Given the description of an element on the screen output the (x, y) to click on. 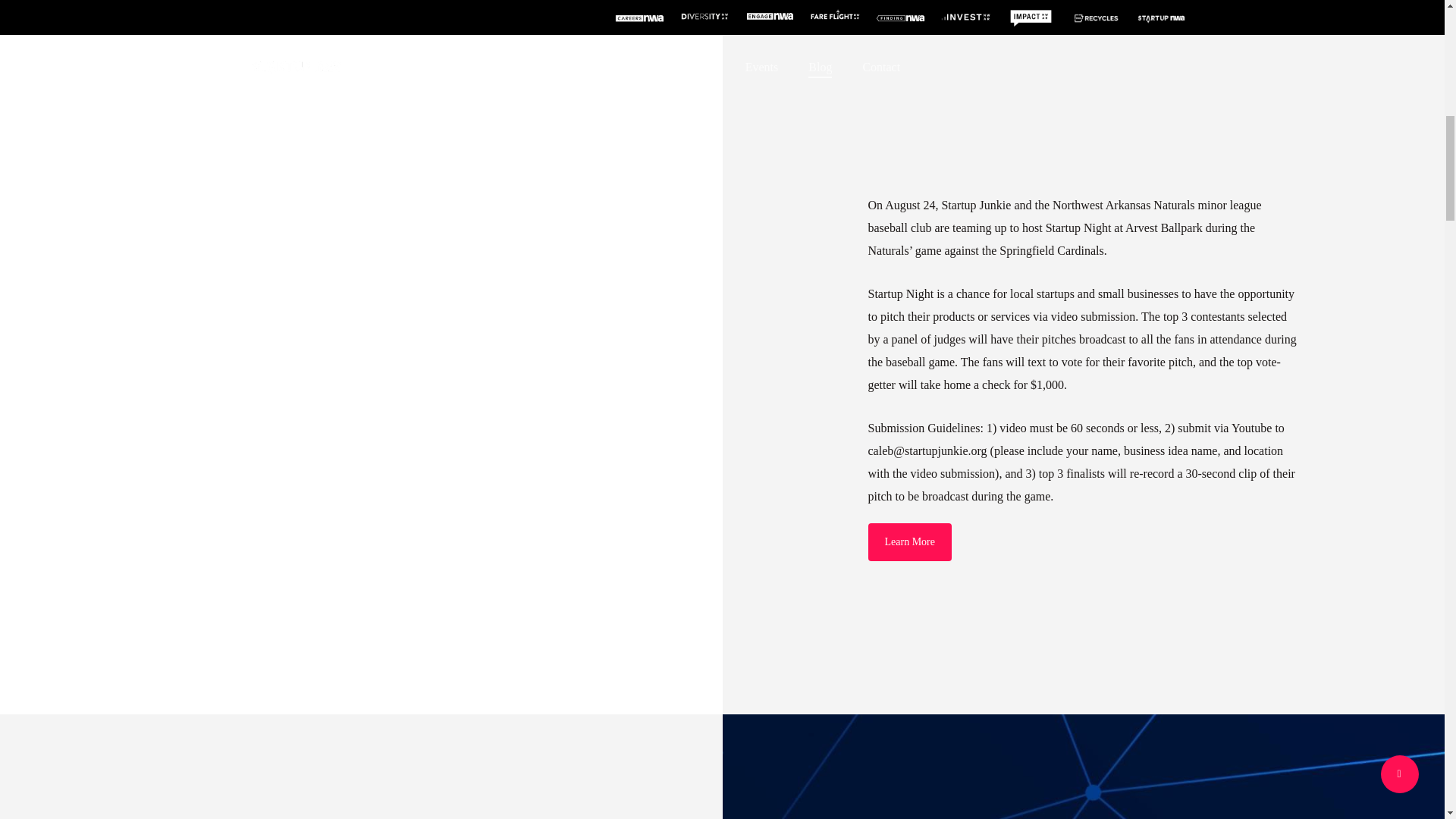
Learn More (908, 542)
